Given the description of an element on the screen output the (x, y) to click on. 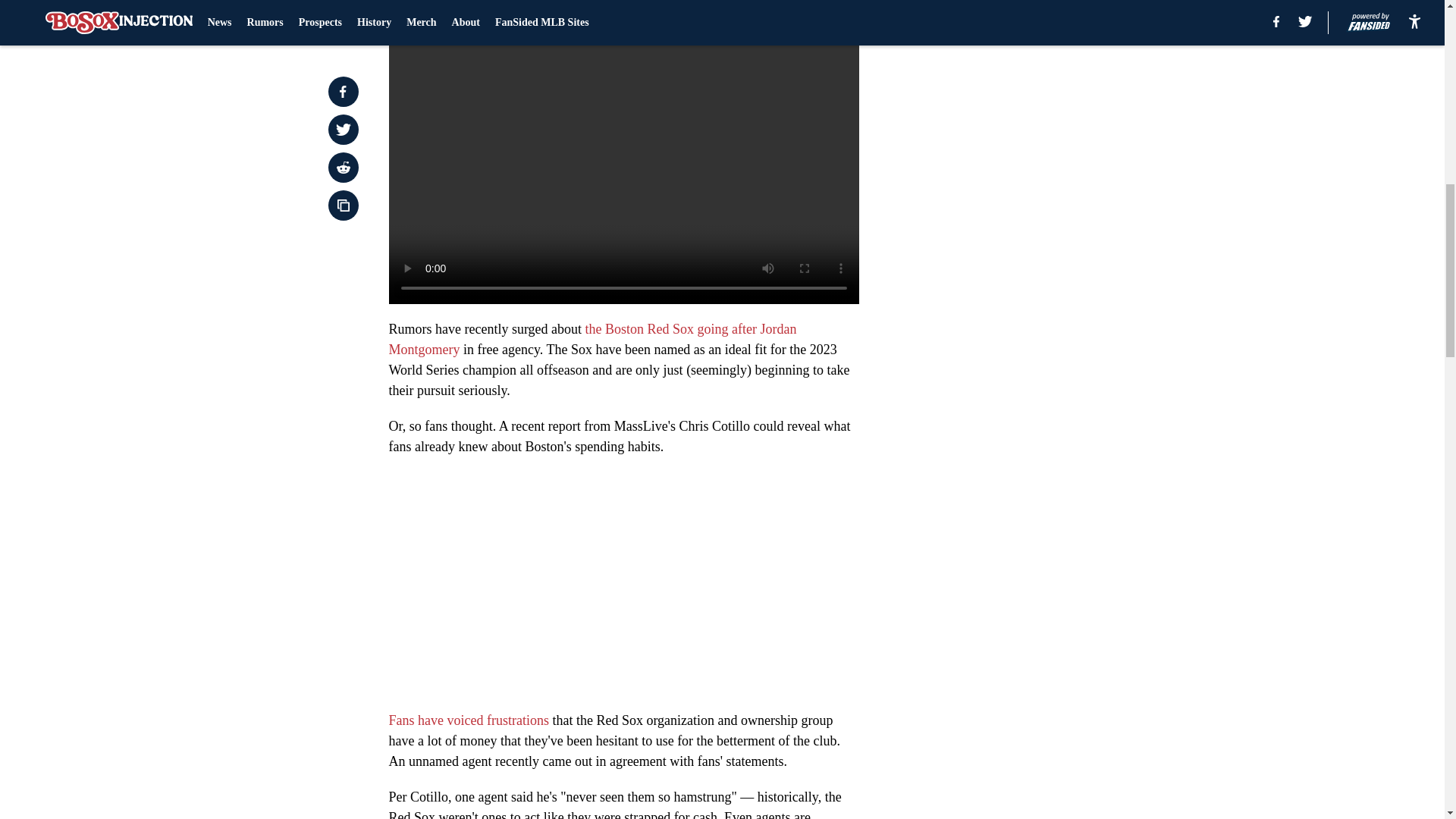
3rd party ad content (1047, 134)
Fans have voiced frustrations (468, 720)
the Boston Red Sox going after Jordan Montgomery (592, 339)
3rd party ad content (1047, 353)
